Given the description of an element on the screen output the (x, y) to click on. 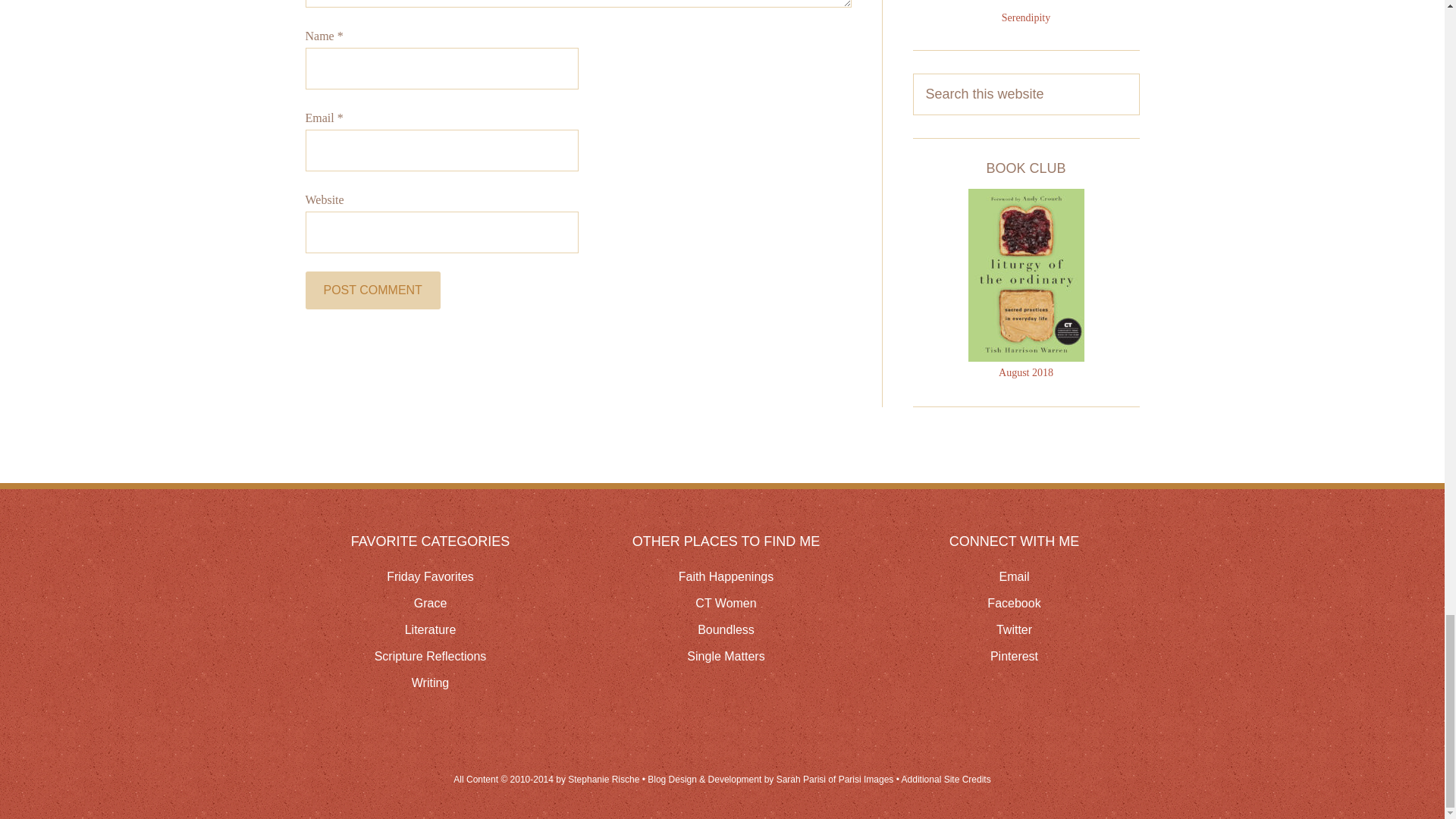
Post Comment (371, 290)
Post Comment (371, 290)
